Given the description of an element on the screen output the (x, y) to click on. 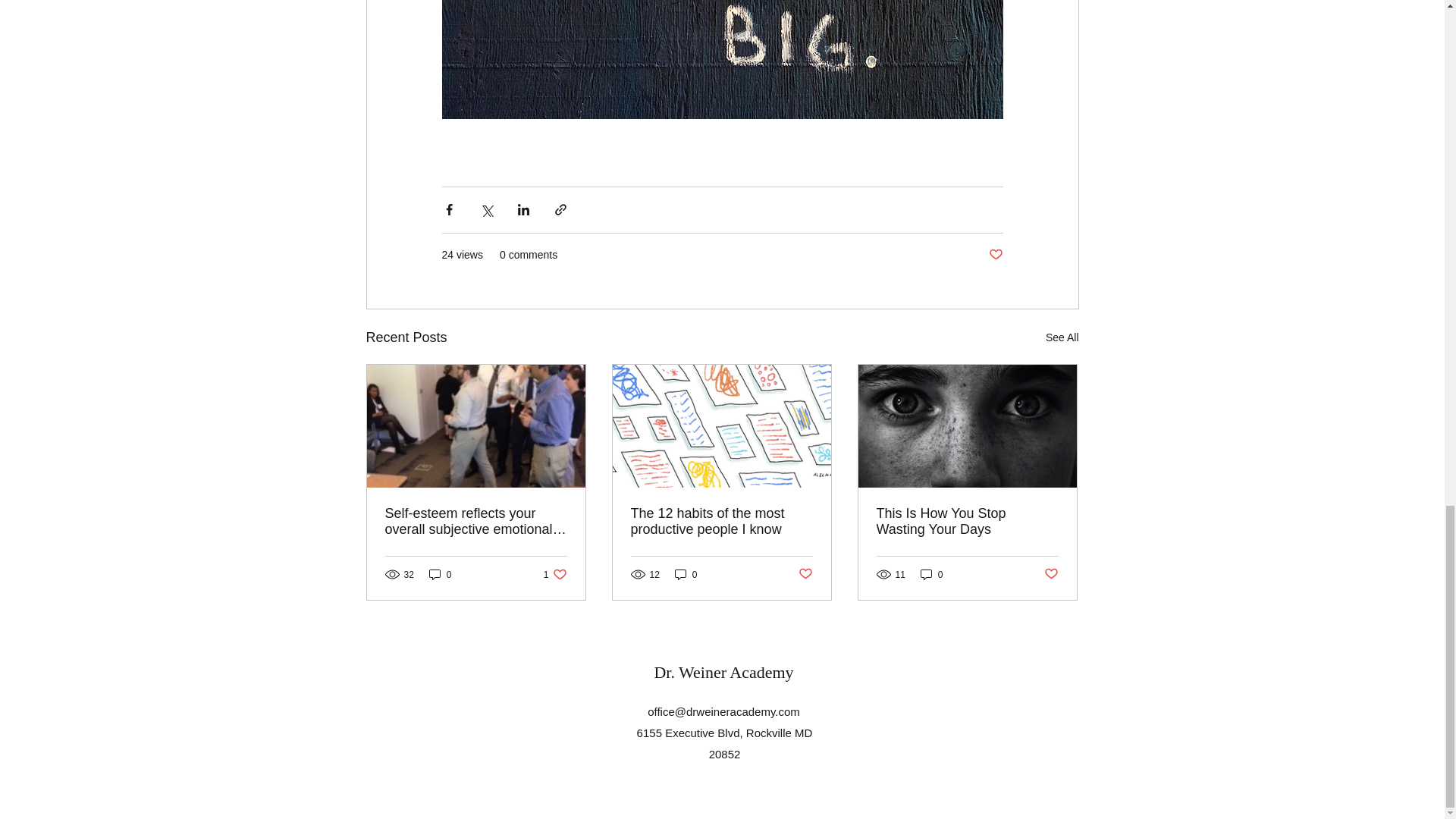
Post not marked as liked (995, 254)
Post not marked as liked (1050, 574)
0 (440, 574)
Post not marked as liked (804, 574)
The 12 habits of the most productive people I know (721, 521)
0 (555, 574)
0 (931, 574)
Dr. Weiner Academy (685, 574)
This Is How You Stop Wasting Your Days (723, 671)
See All (967, 521)
